Given the description of an element on the screen output the (x, y) to click on. 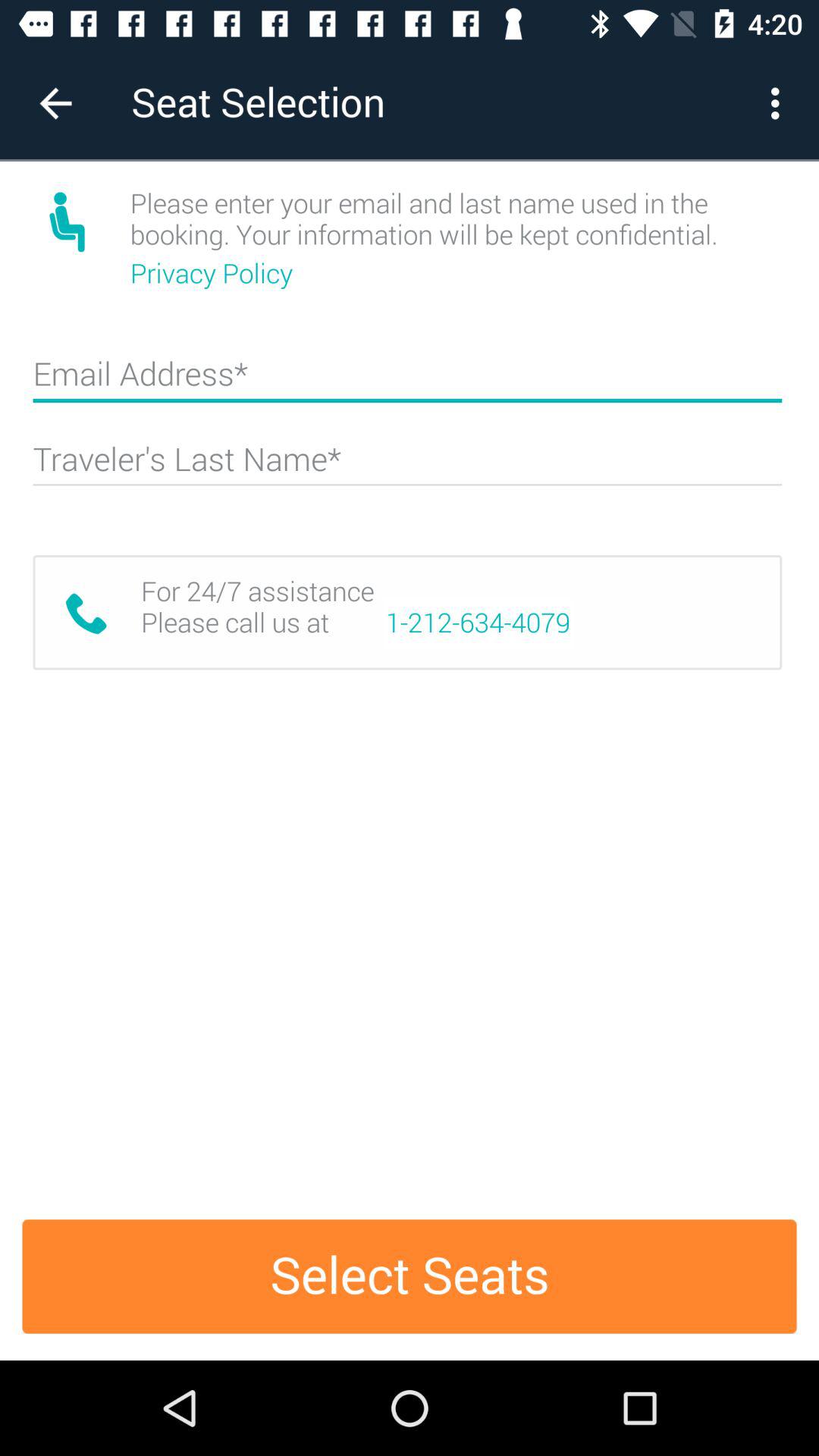
swipe until 1 212 634 (477, 622)
